Given the description of an element on the screen output the (x, y) to click on. 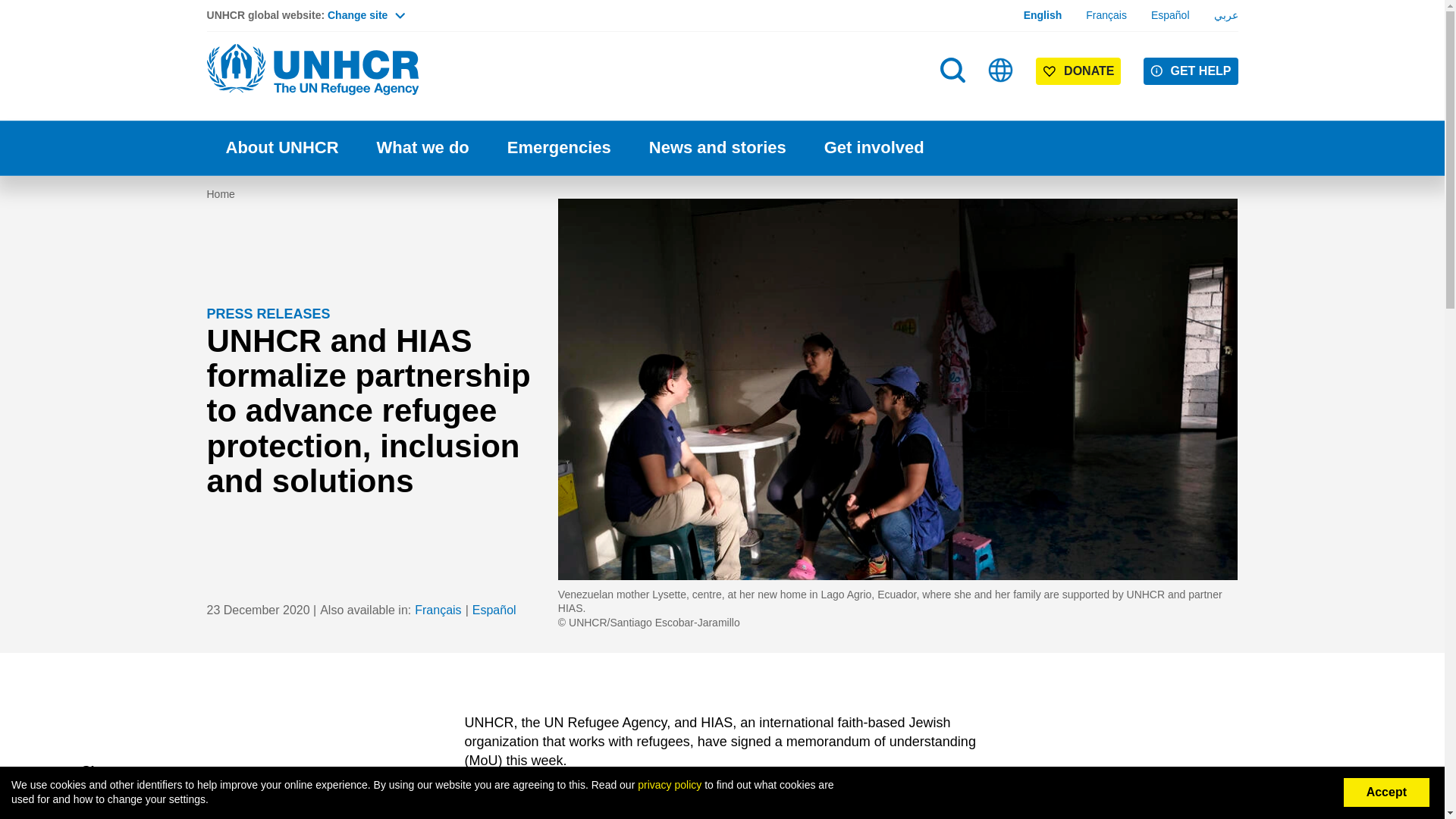
DONATE (1078, 71)
Skip to main content (721, 1)
Home (312, 69)
GET HELP (1189, 71)
About UNHCR (281, 148)
English (1042, 15)
Search (954, 99)
Search (952, 69)
Sites (1000, 69)
Change site (365, 15)
